Given the description of an element on the screen output the (x, y) to click on. 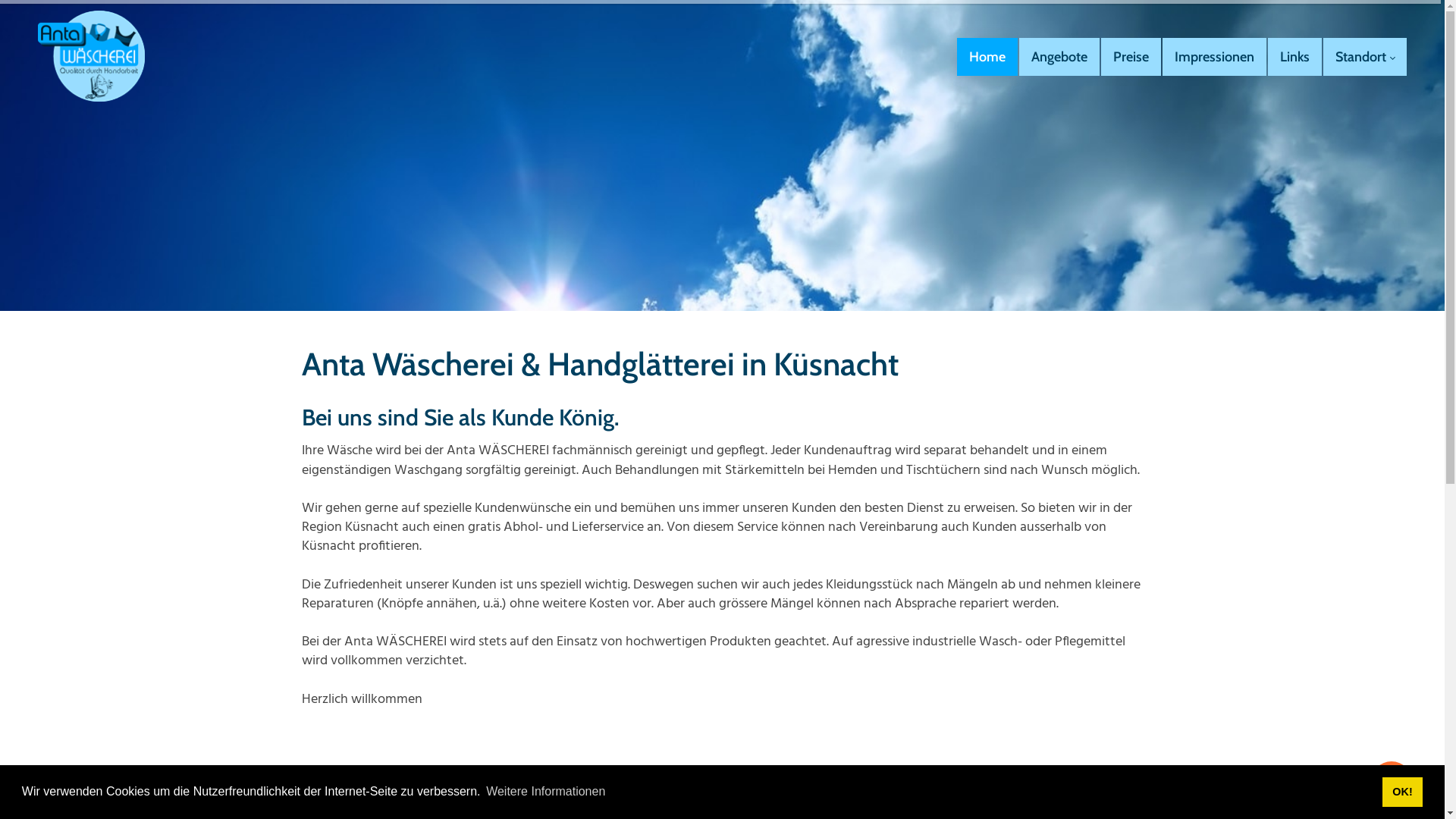
OK! Element type: text (1402, 791)
Links Element type: text (1294, 56)
Standort Element type: text (1364, 56)
Home Element type: text (987, 56)
Impressionen Element type: text (1214, 56)
Angebote Element type: text (1059, 56)
Preise Element type: text (1131, 56)
Weitere Informationen Element type: text (545, 791)
anta-waescherei.ch Element type: hover (90, 56)
